Given the description of an element on the screen output the (x, y) to click on. 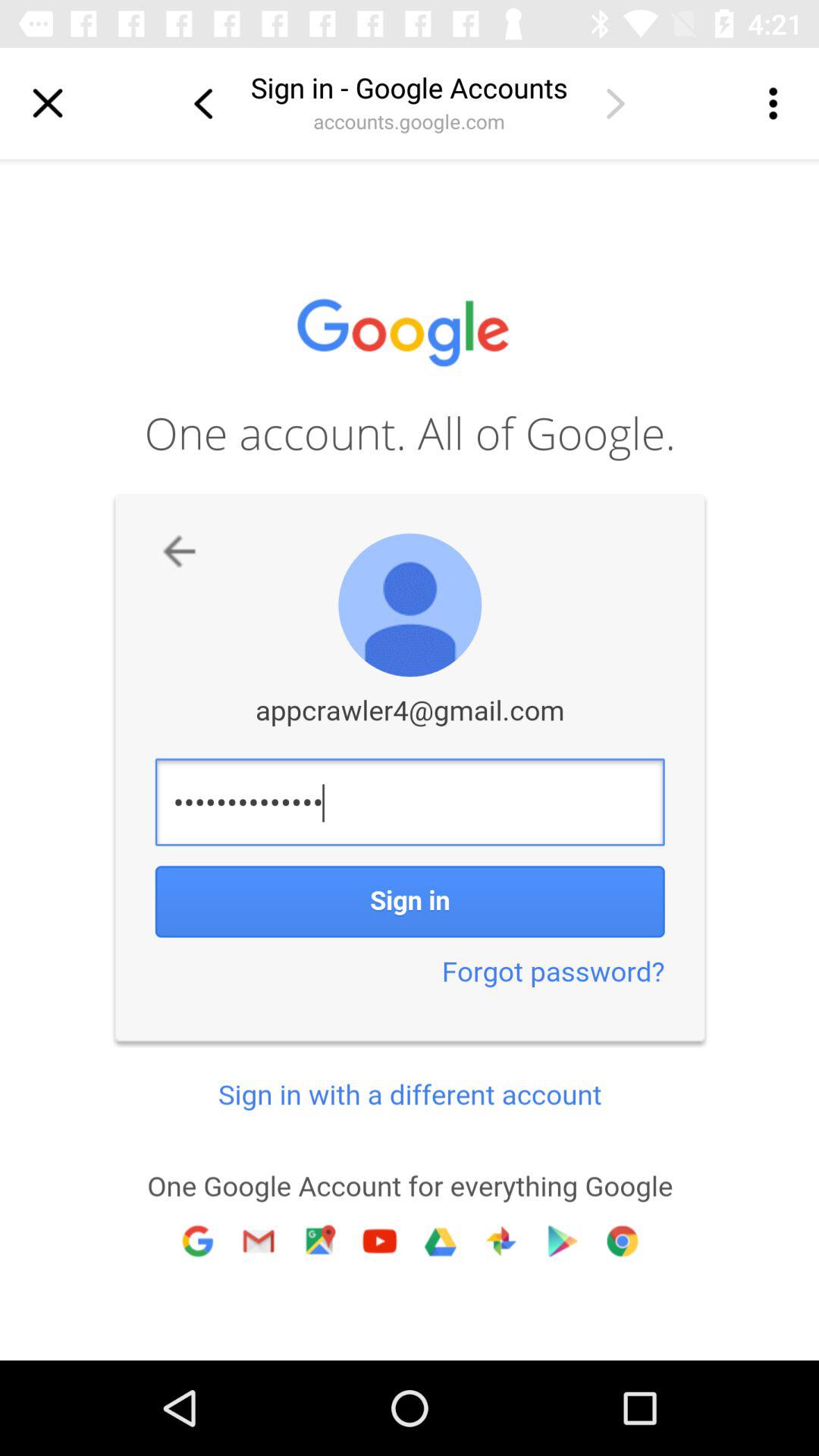
list box (771, 103)
